Given the description of an element on the screen output the (x, y) to click on. 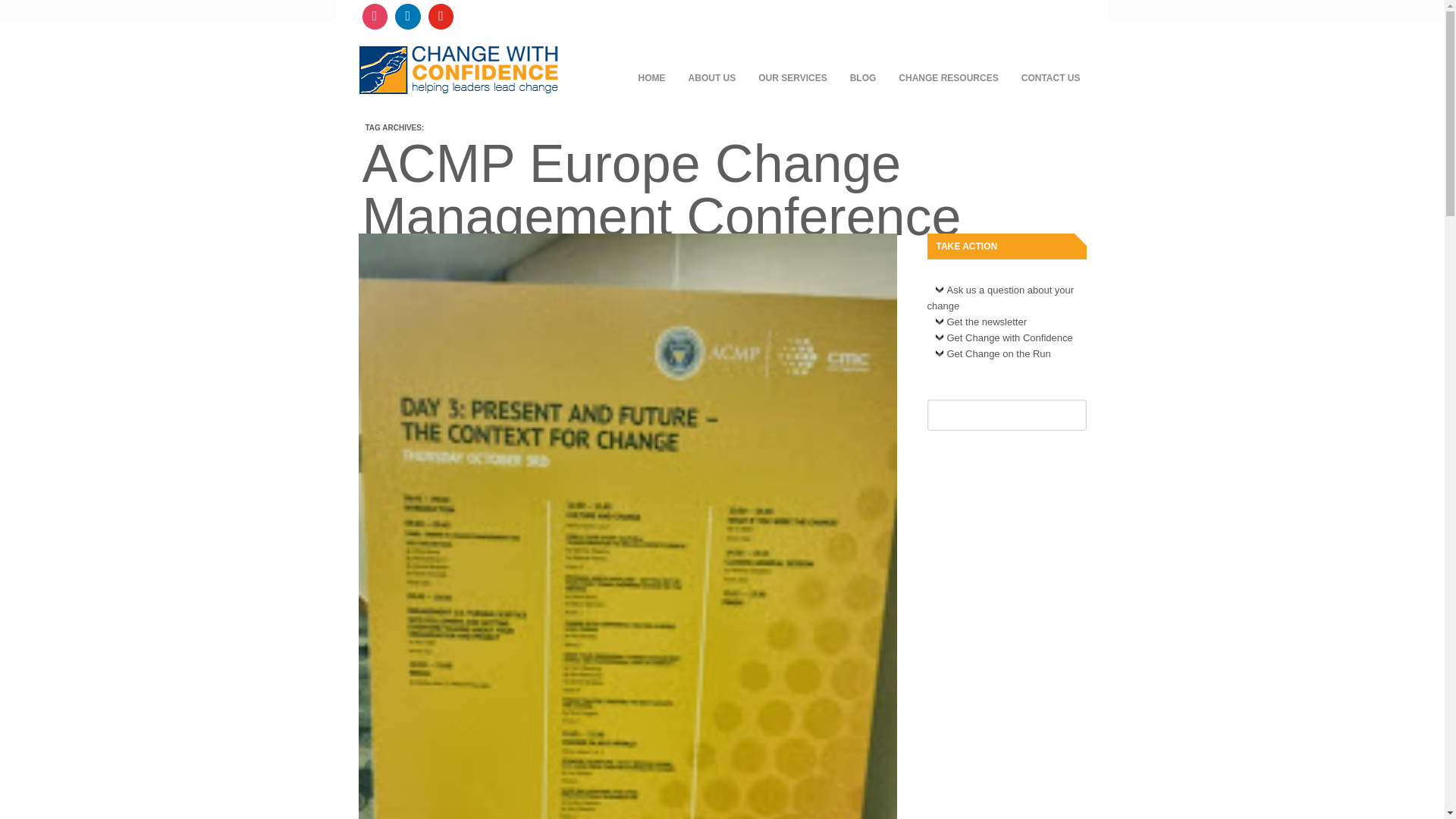
Change with Confidence (457, 84)
OUR SERVICES (792, 77)
Get Change on the Run (991, 357)
CONTACT US (1051, 77)
HOME (652, 77)
CHANGE RESOURCES (947, 77)
BLOG (863, 77)
Get Change with Confidence (1002, 341)
Instagram (374, 16)
Linkedin (408, 16)
Ask us a question about your change (1000, 301)
Get the newsletter (980, 325)
ABOUT US (712, 77)
Youtube (441, 16)
